Given the description of an element on the screen output the (x, y) to click on. 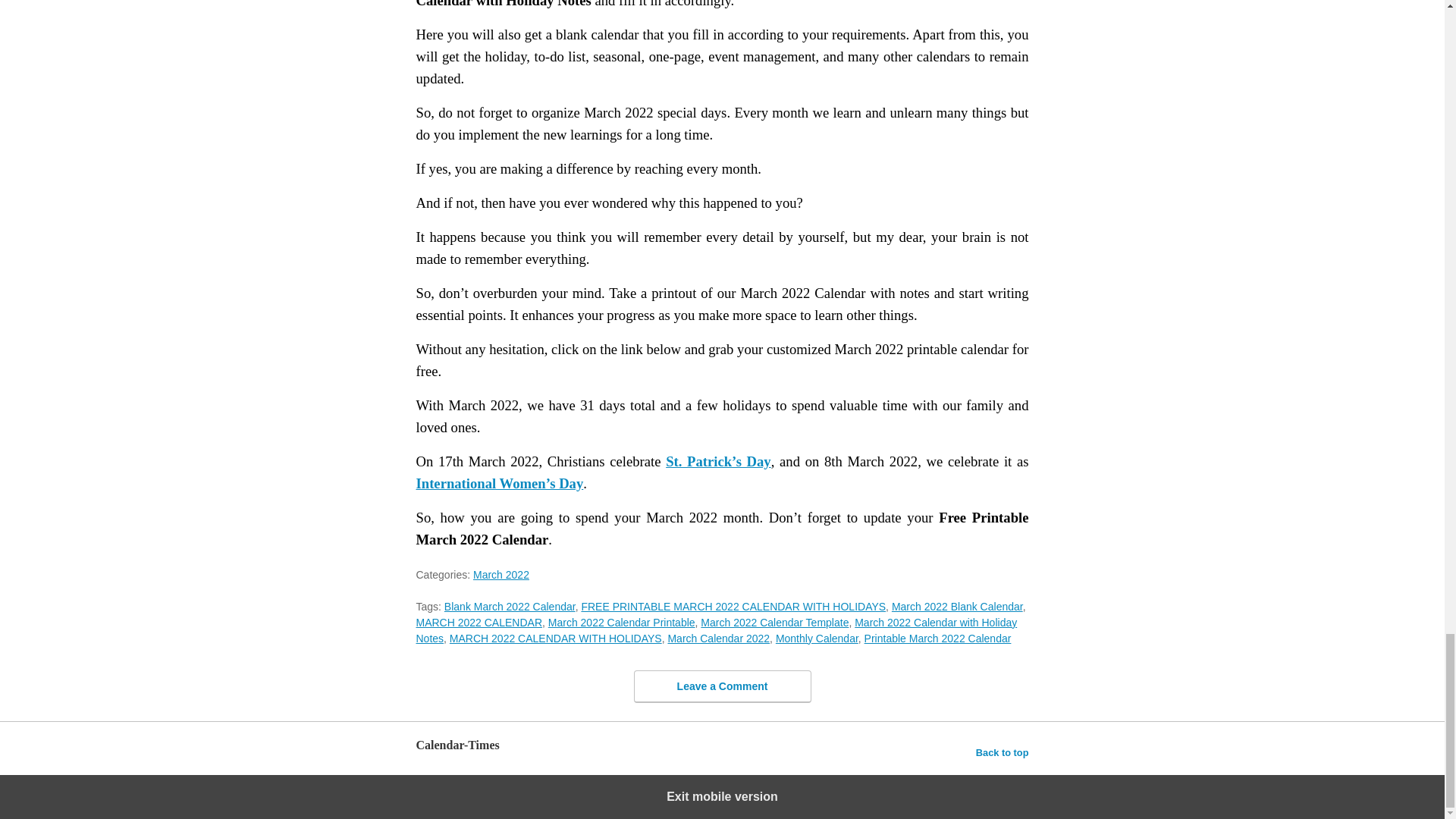
March 2022 Blank Calendar (957, 606)
March 2022 (501, 574)
MARCH 2022 CALENDAR (477, 622)
Blank March 2022 Calendar (509, 606)
March 2022 Calendar Printable (621, 622)
March Calendar 2022 (718, 638)
Printable March 2022 Calendar (937, 638)
Leave a Comment (721, 686)
FREE PRINTABLE MARCH 2022 CALENDAR WITH HOLIDAYS (732, 606)
Monthly Calendar (817, 638)
